Given the description of an element on the screen output the (x, y) to click on. 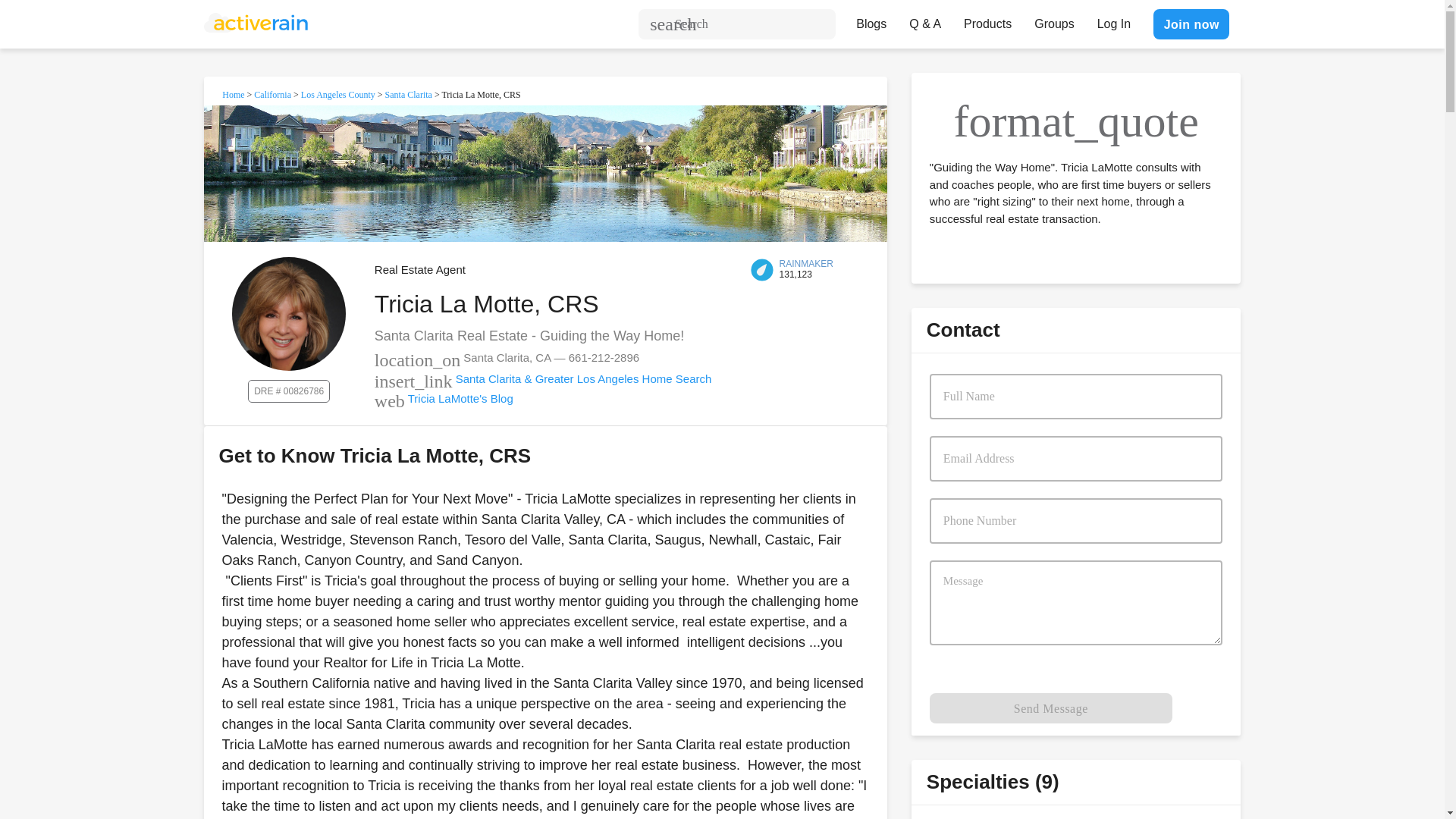
Products (986, 19)
Send Message (1051, 707)
Groups (1053, 19)
California (272, 94)
Los Angeles County (338, 94)
web Tricia LaMotte's Blog (443, 398)
Blogs (870, 19)
Join now (1190, 24)
Log In (1113, 19)
Home (233, 94)
Santa Clarita (408, 94)
